Given the description of an element on the screen output the (x, y) to click on. 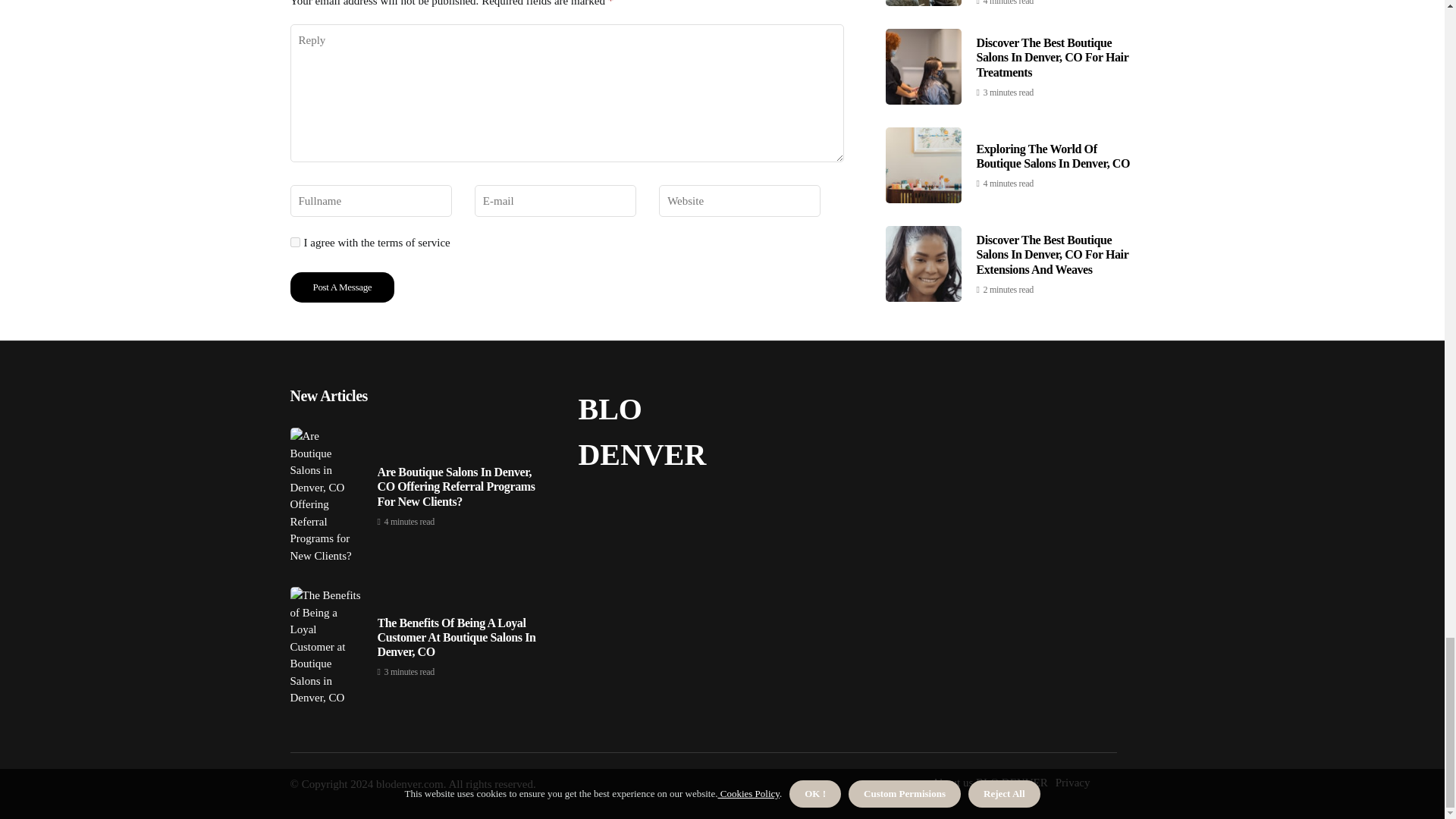
yes (294, 242)
Post a Message (341, 286)
Post a Message (341, 286)
